Given the description of an element on the screen output the (x, y) to click on. 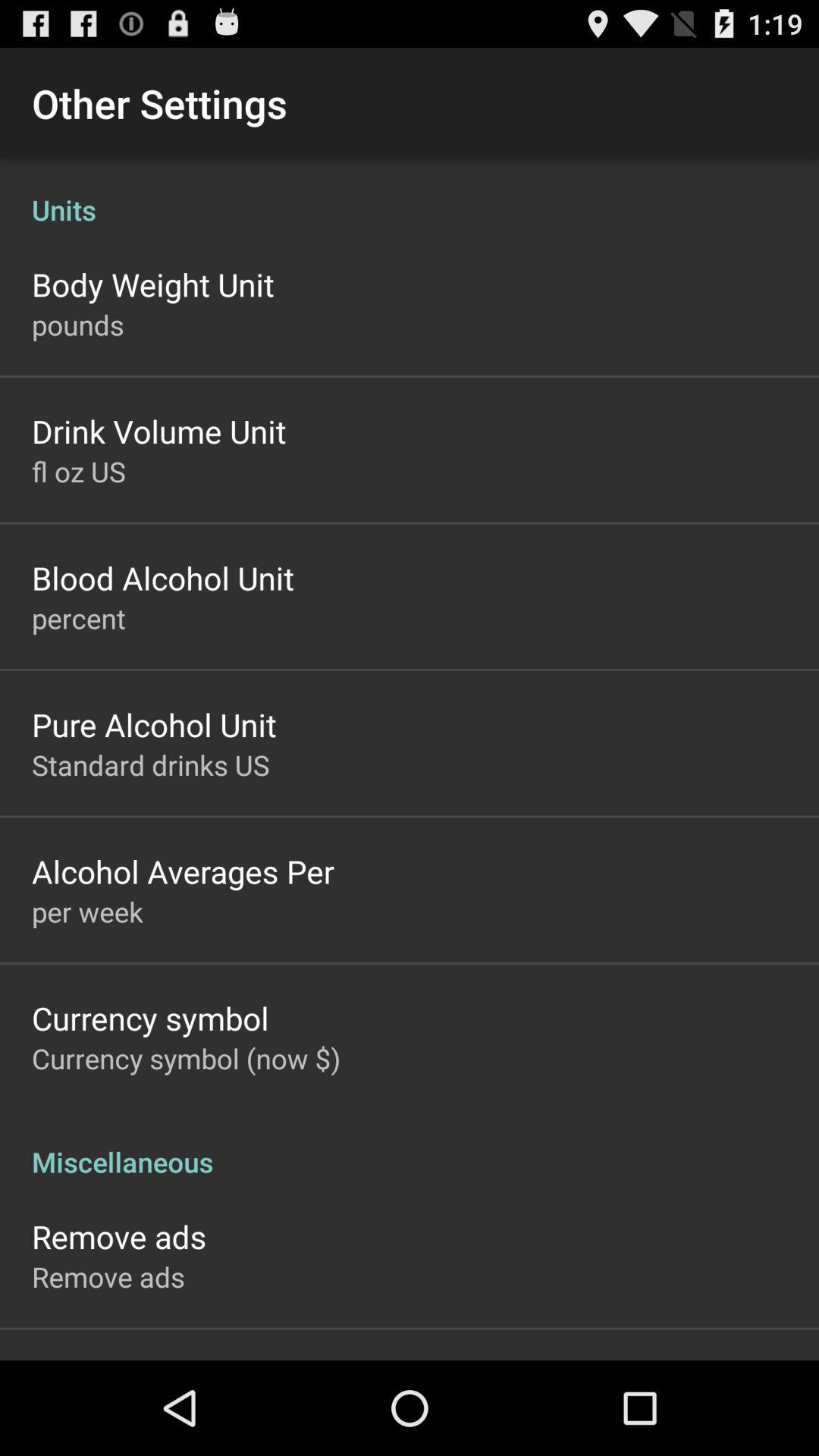
swipe to the pounds (77, 324)
